Given the description of an element on the screen output the (x, y) to click on. 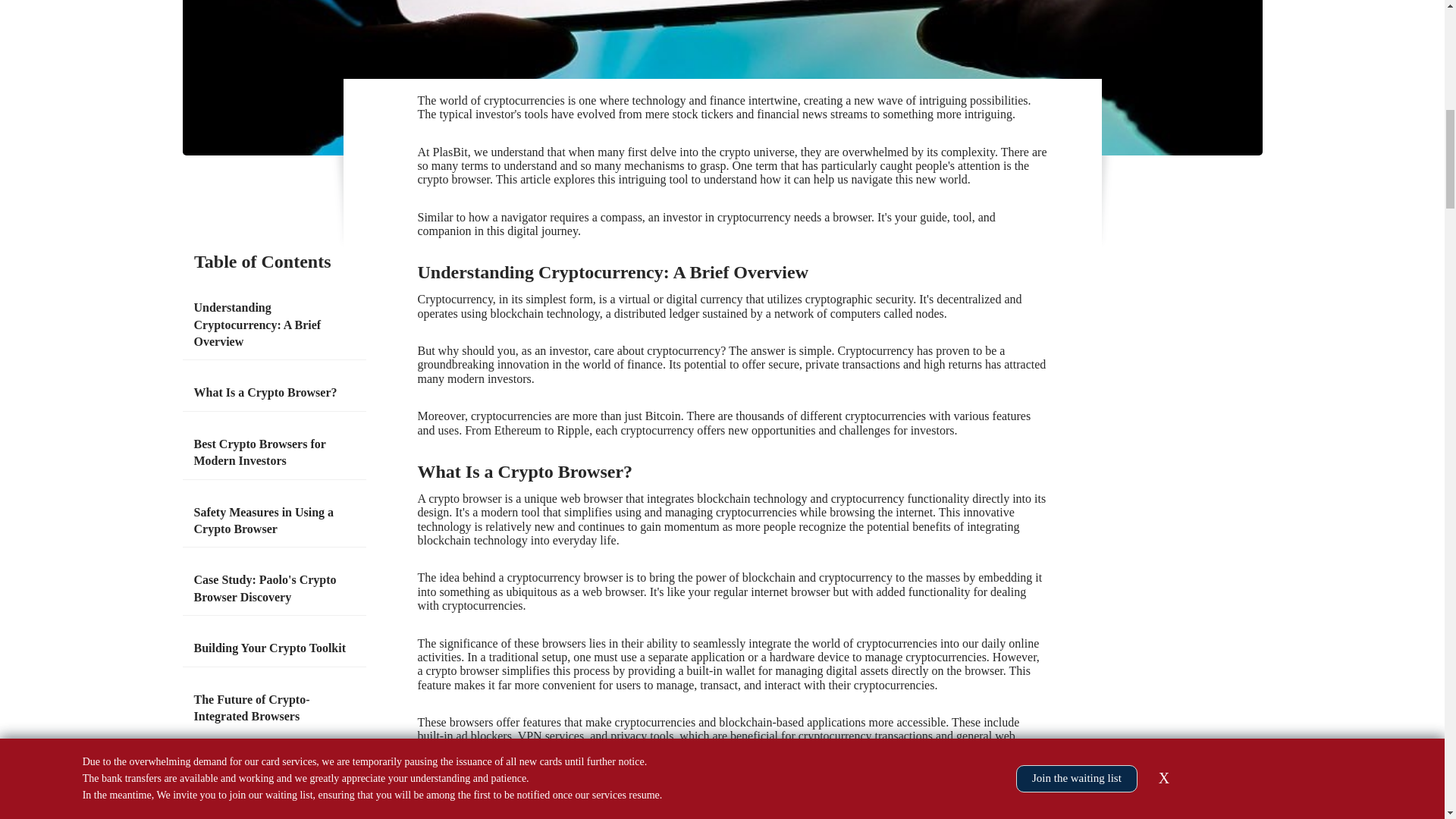
Safety Measures in Using a Crypto Browser (274, 521)
The Future of Crypto-Integrated Browsers (274, 708)
Understanding Cryptocurrency: A Brief Overview (274, 324)
Building Your Crypto Toolkit (269, 647)
What Is a Crypto Browser? (265, 392)
Best Crypto Browsers for Modern Investors (274, 452)
Case Study: Paolo's Crypto Browser Discovery (274, 588)
